Given the description of an element on the screen output the (x, y) to click on. 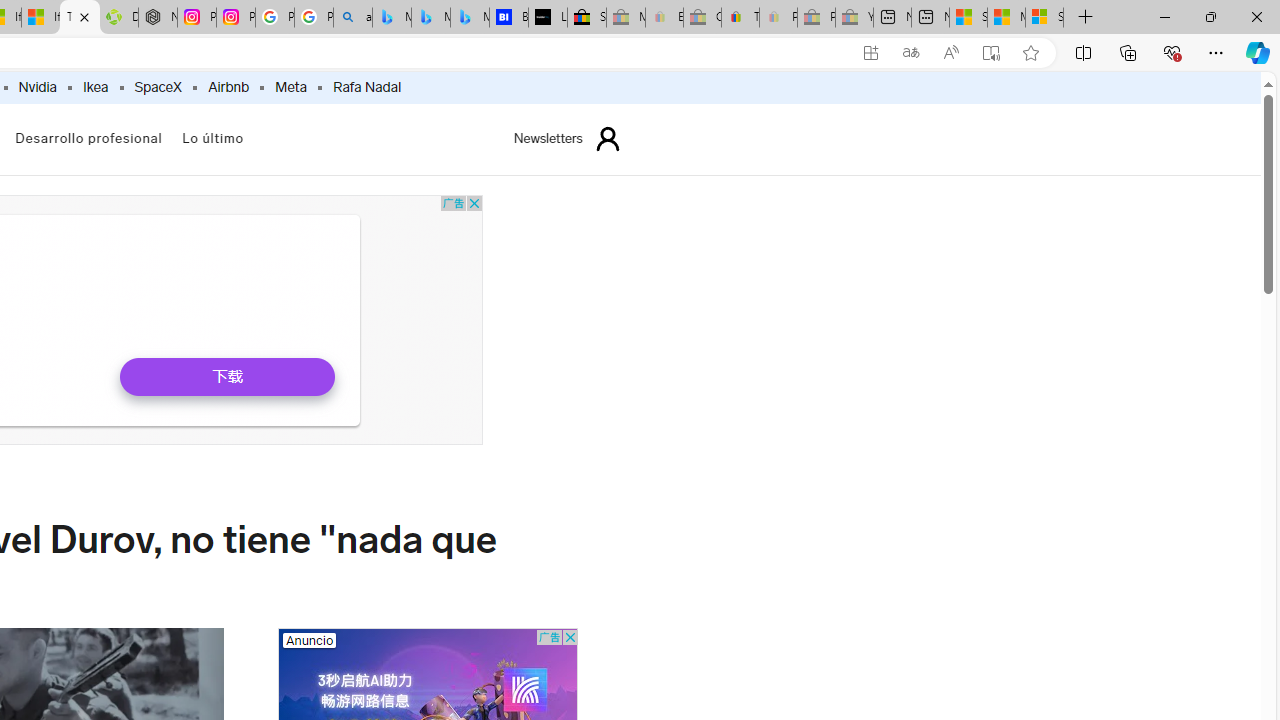
Rafa Nadal (367, 88)
Newsletters (547, 138)
Desarrollo profesional (88, 139)
Ikea (95, 88)
Airbnb (227, 88)
Meta (291, 88)
Yard, Garden & Outdoor Living - Sleeping (853, 17)
